Given the description of an element on the screen output the (x, y) to click on. 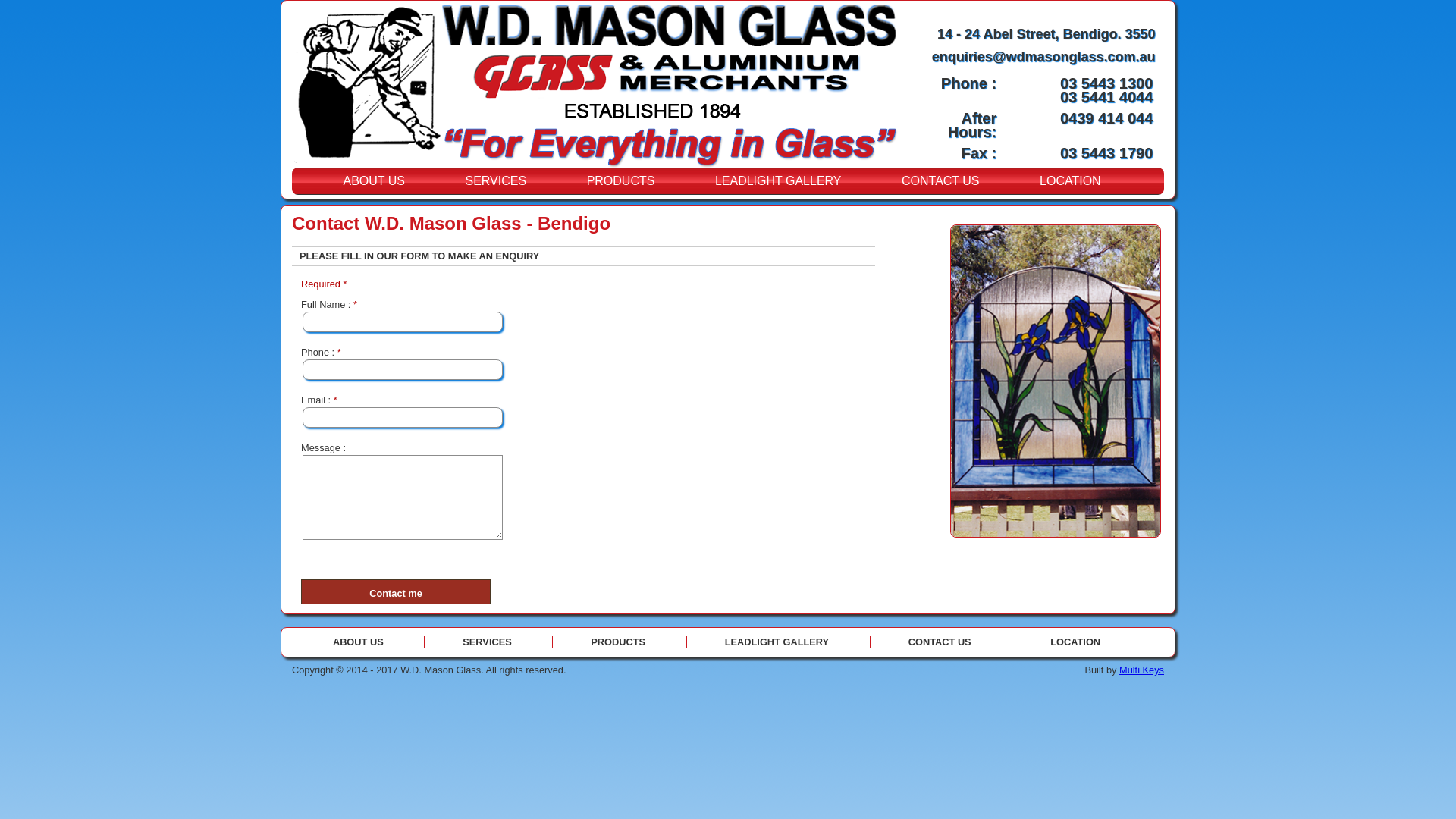
LOCATION Element type: text (1070, 180)
ABOUT US Element type: text (376, 641)
SERVICES Element type: text (496, 180)
Please enter a value Element type: hover (402, 369)
Contact me Element type: text (395, 591)
ABOUT US Element type: text (373, 180)
SERVICES Element type: text (486, 641)
PRODUCTS Element type: text (620, 180)
PRODUCTS Element type: text (617, 641)
CONTACT US Element type: text (939, 641)
CONTACT US Element type: text (940, 180)
Multi Keys Element type: text (1141, 669)
LEADLIGHT GALLERY Element type: text (776, 641)
LOCATION Element type: text (1074, 641)
LEADLIGHT GALLERY Element type: text (778, 180)
Please enter your name Element type: hover (402, 321)
Please enter a full email address Element type: hover (402, 417)
Please enter a value Element type: hover (402, 497)
